Given the description of an element on the screen output the (x, y) to click on. 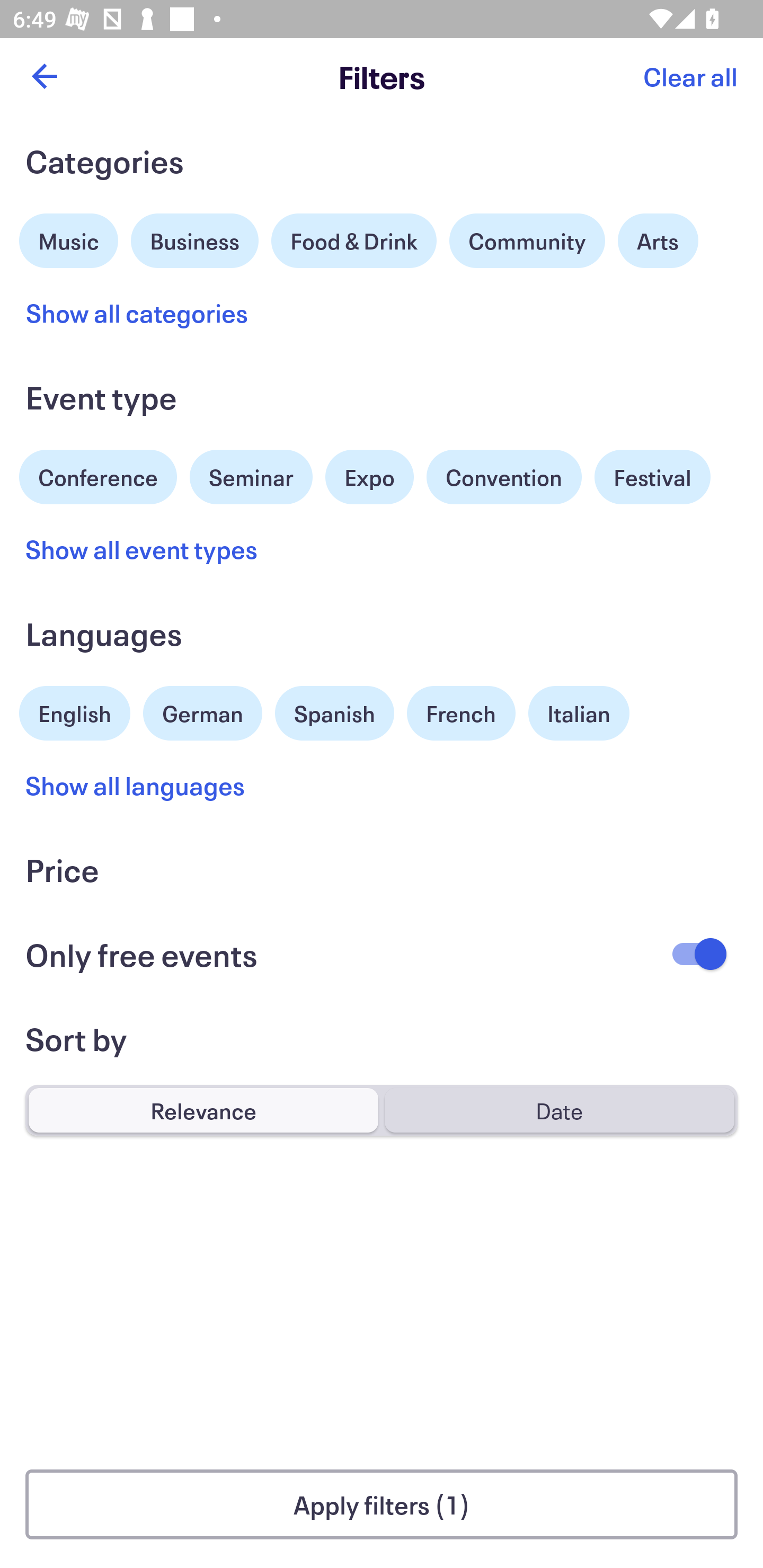
Back button (44, 75)
Clear all (690, 75)
Music (68, 238)
Business (194, 238)
Food & Drink (353, 240)
Community (527, 240)
Arts (658, 240)
Show all categories (136, 312)
Conference (98, 475)
Seminar (250, 477)
Expo (369, 477)
Convention (503, 477)
Festival (652, 477)
Show all event types (141, 548)
English (74, 710)
German (202, 710)
Spanish (334, 713)
French (460, 713)
Italian (578, 713)
Show all languages (135, 784)
Relevance (203, 1109)
Date (559, 1109)
Apply filters (1) (381, 1504)
